Given the description of an element on the screen output the (x, y) to click on. 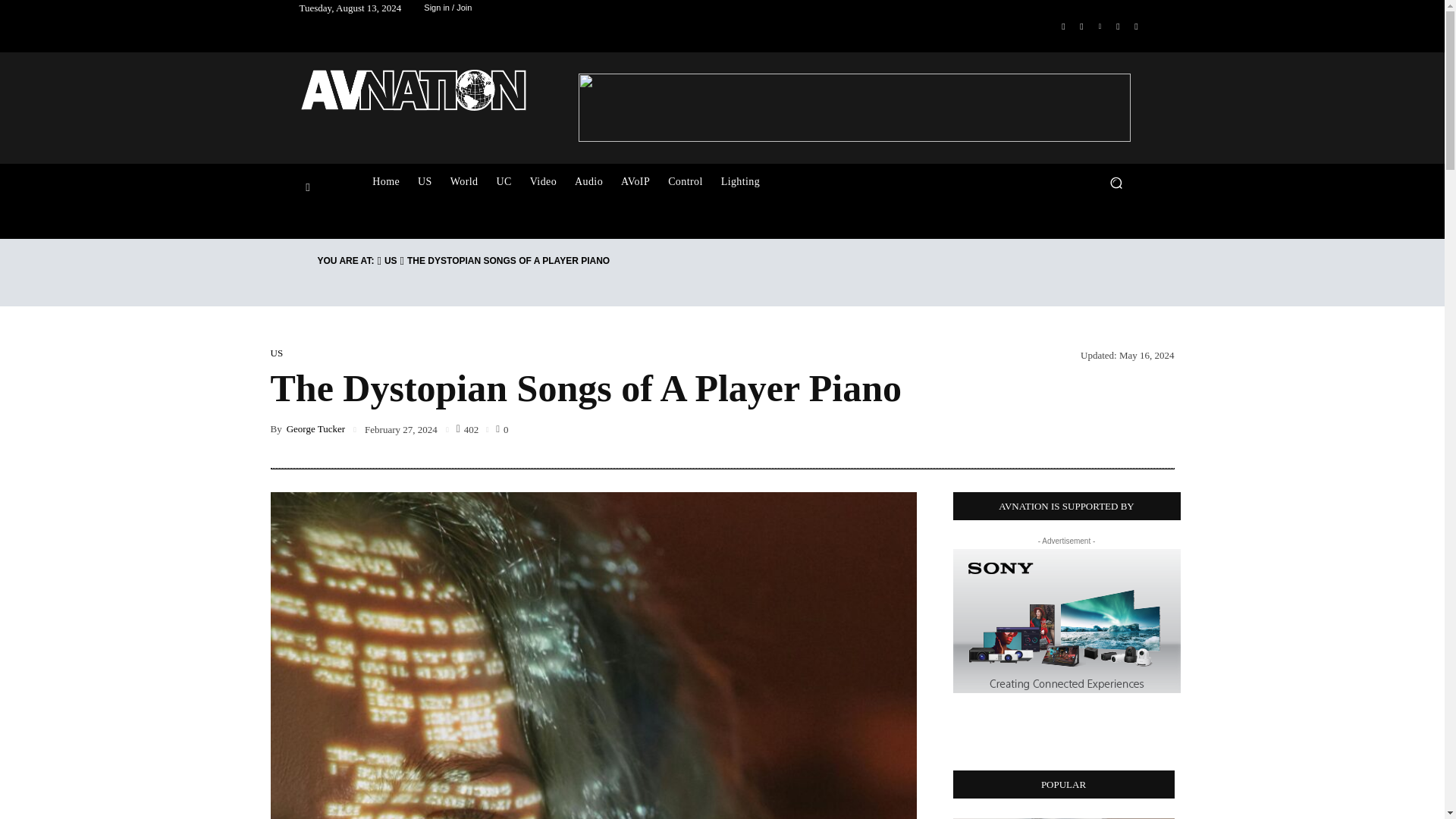
Linkedin (1099, 25)
World (464, 181)
US (425, 181)
Instagram (1080, 25)
UC (502, 181)
Twitter (1117, 25)
Home (385, 181)
Facebook (1062, 25)
Video (543, 181)
Youtube (1135, 25)
